Given the description of an element on the screen output the (x, y) to click on. 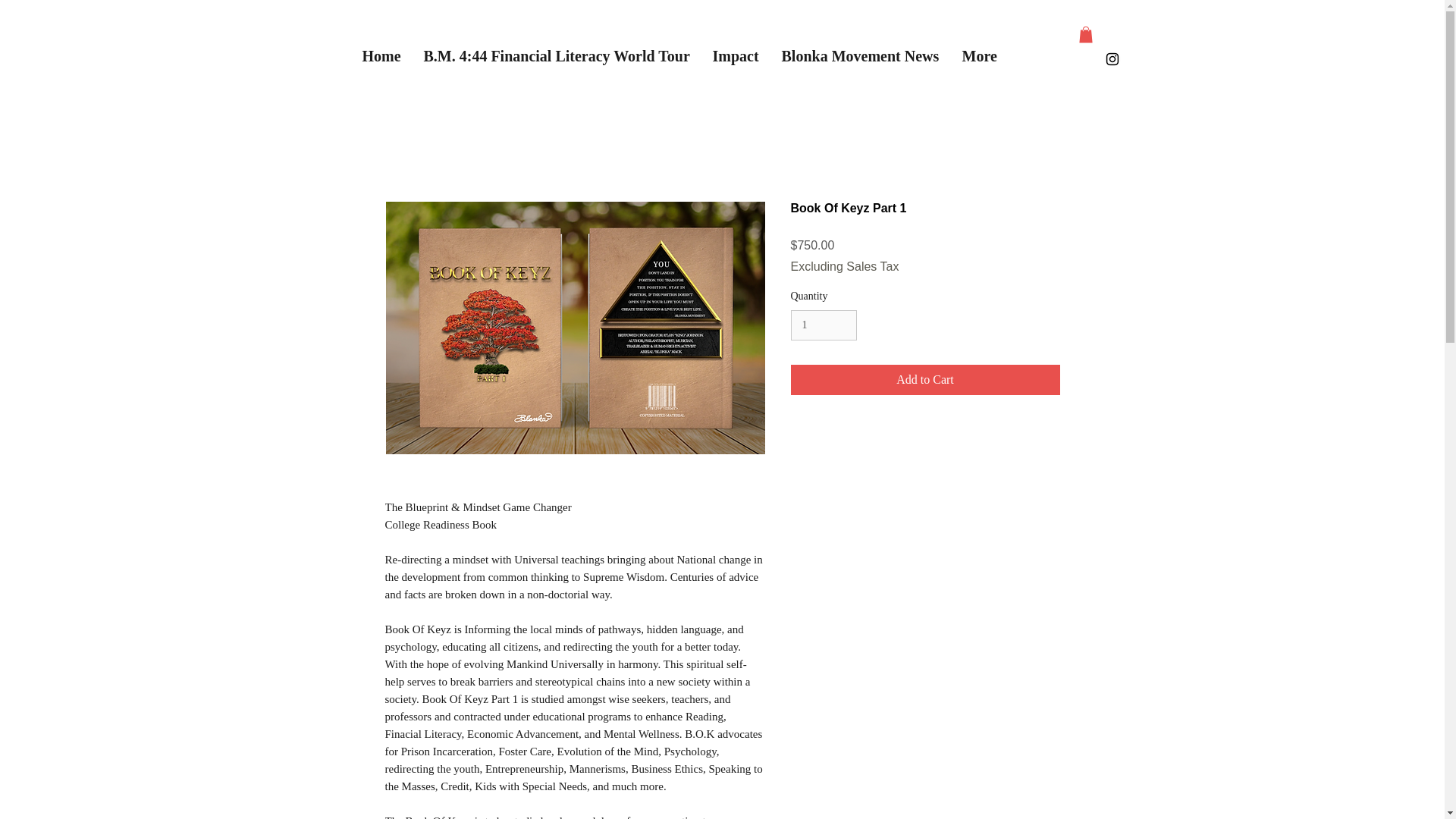
1 (823, 325)
Home (381, 56)
Impact (735, 56)
B.M. 4:44 Financial Literacy World Tour (556, 56)
Blonka Movement News (860, 56)
Add to Cart (924, 379)
